Given the description of an element on the screen output the (x, y) to click on. 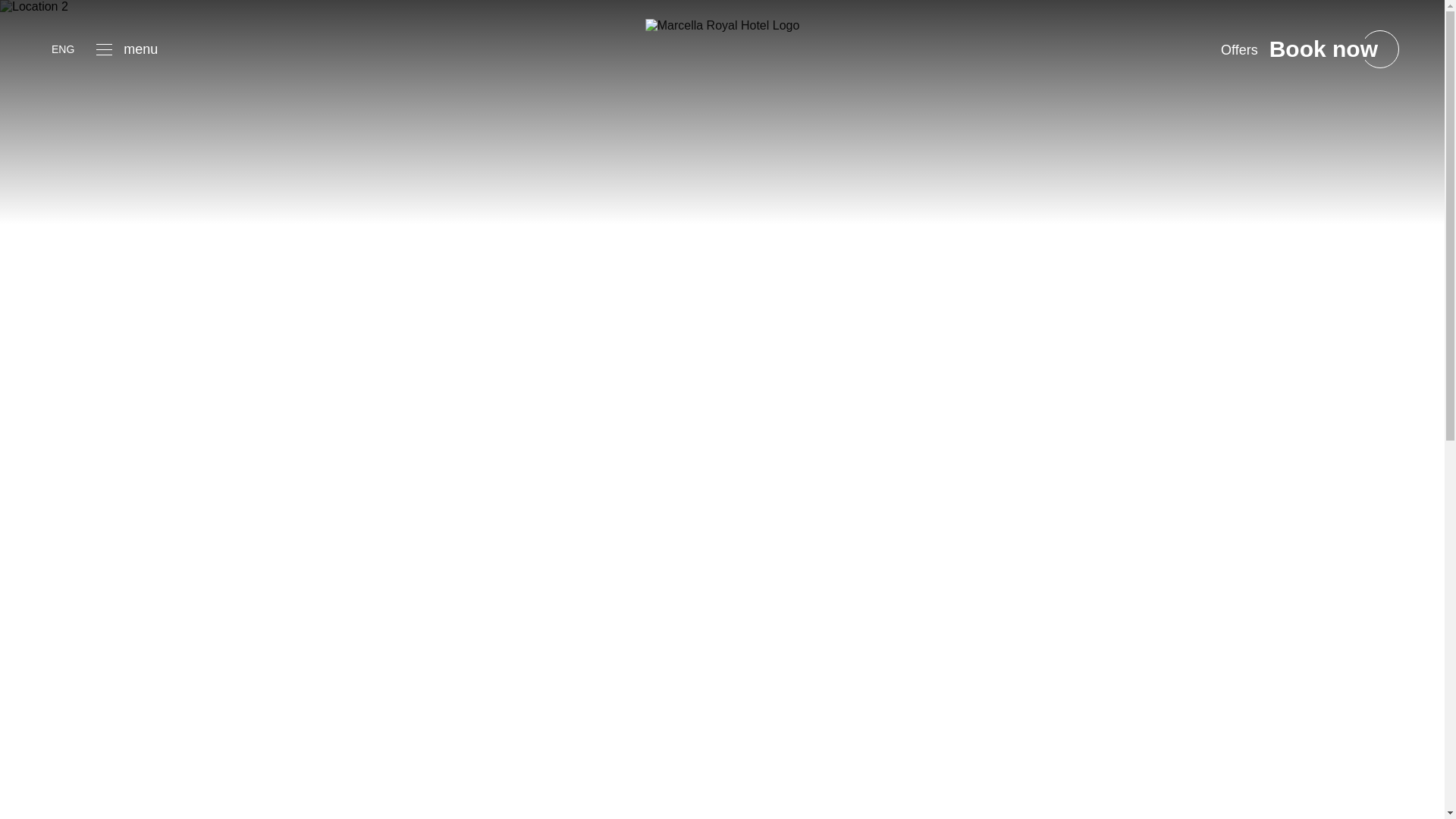
Offers (1239, 48)
Marcella Royal Hotel Logo (722, 25)
Location 2 (34, 6)
